Given the description of an element on the screen output the (x, y) to click on. 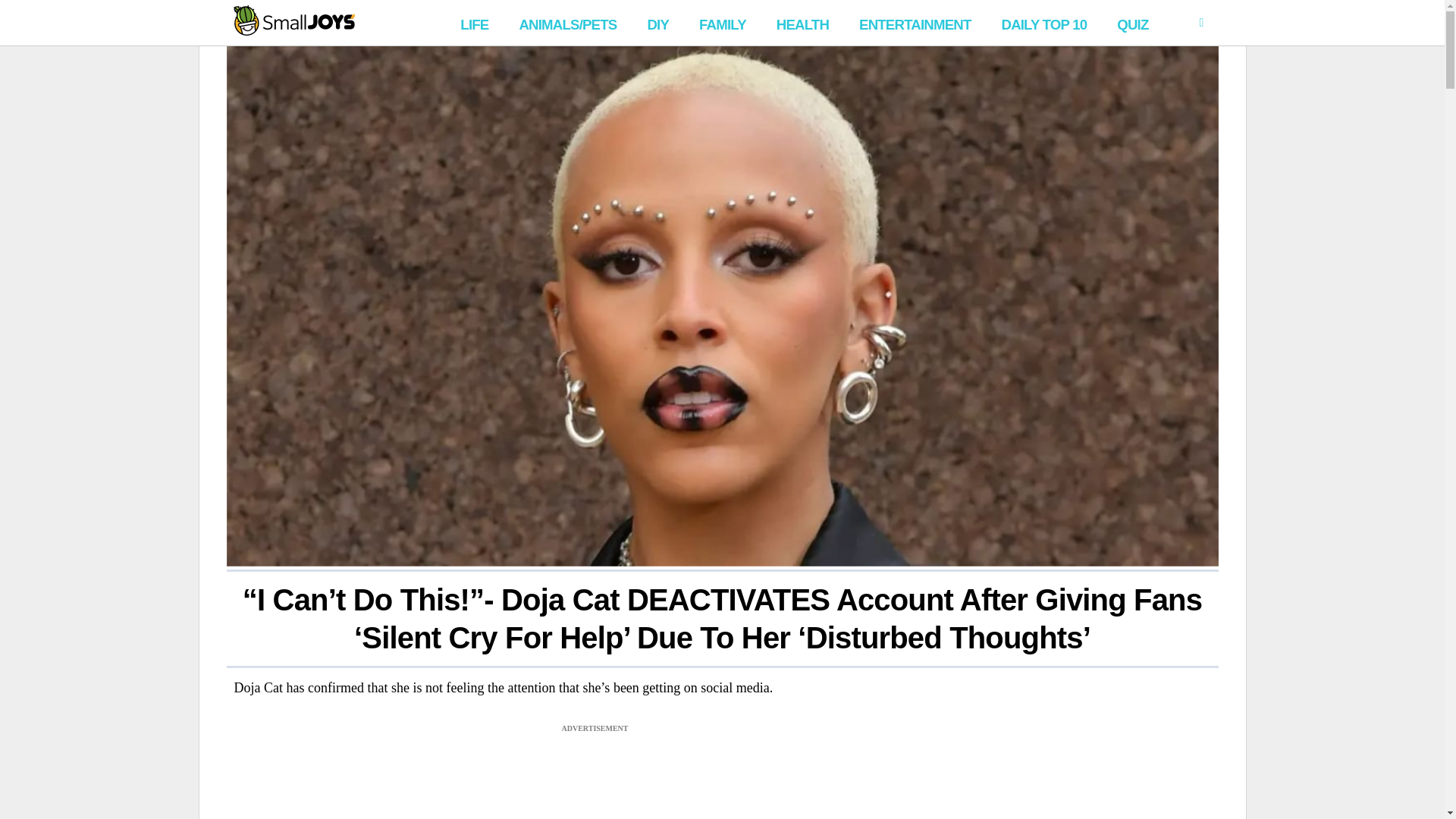
QUIZ (1132, 22)
DAILY TOP 10 (1043, 22)
HEALTH (801, 22)
FAMILY (722, 22)
ENTERTAINMENT (914, 22)
LIFE (474, 22)
